Given the description of an element on the screen output the (x, y) to click on. 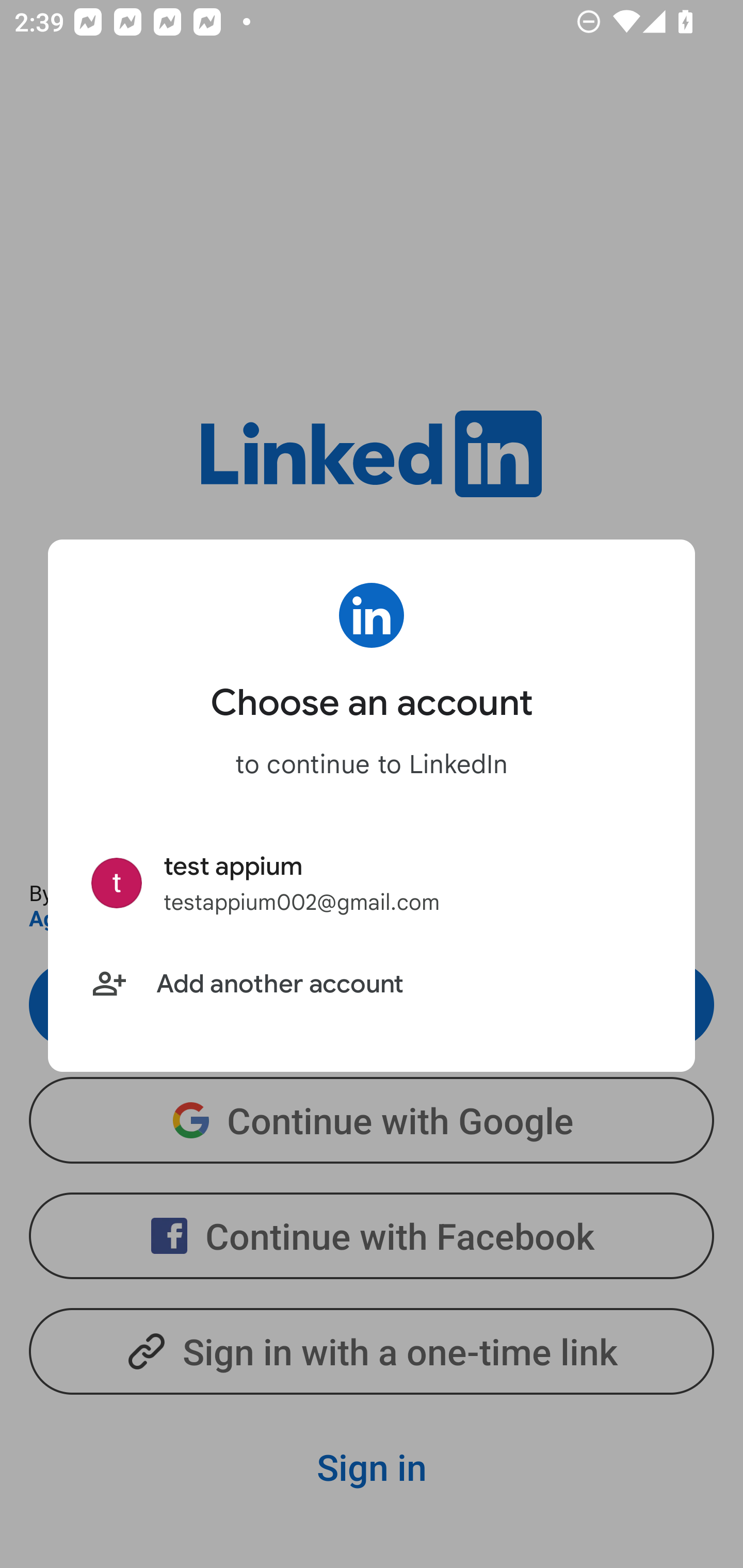
test appium testappium002@gmail.com (371, 883)
Add another account (371, 984)
